Given the description of an element on the screen output the (x, y) to click on. 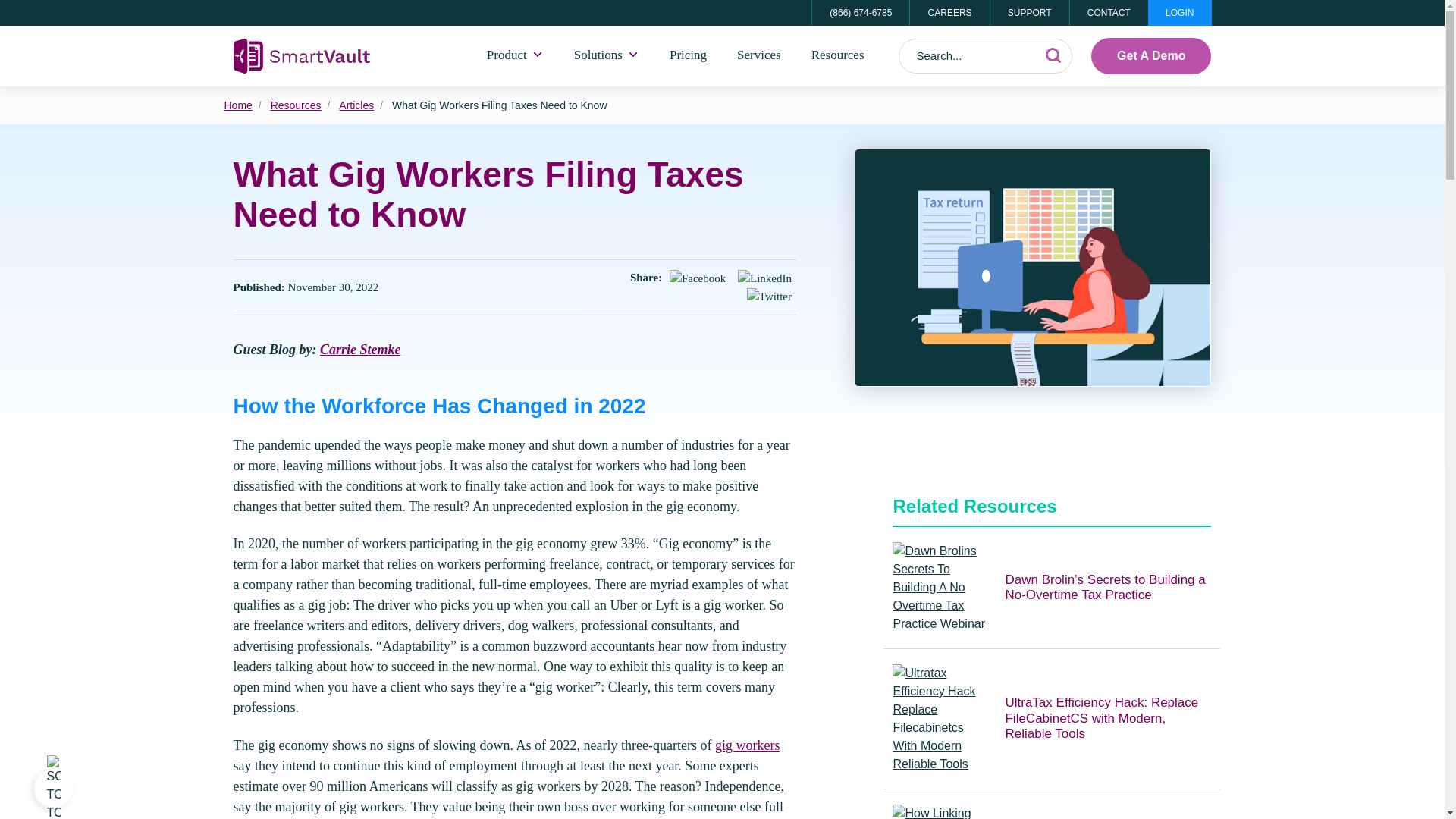
Check out our Support resources (1029, 12)
CAREERS (948, 12)
Product (515, 55)
Login to My.SmartVault.com (1179, 12)
Contact us (1108, 12)
SUPPORT (1029, 12)
Search for: (985, 55)
CONTACT (1108, 12)
Join our team! (948, 12)
LOGIN (1179, 12)
